Given the description of an element on the screen output the (x, y) to click on. 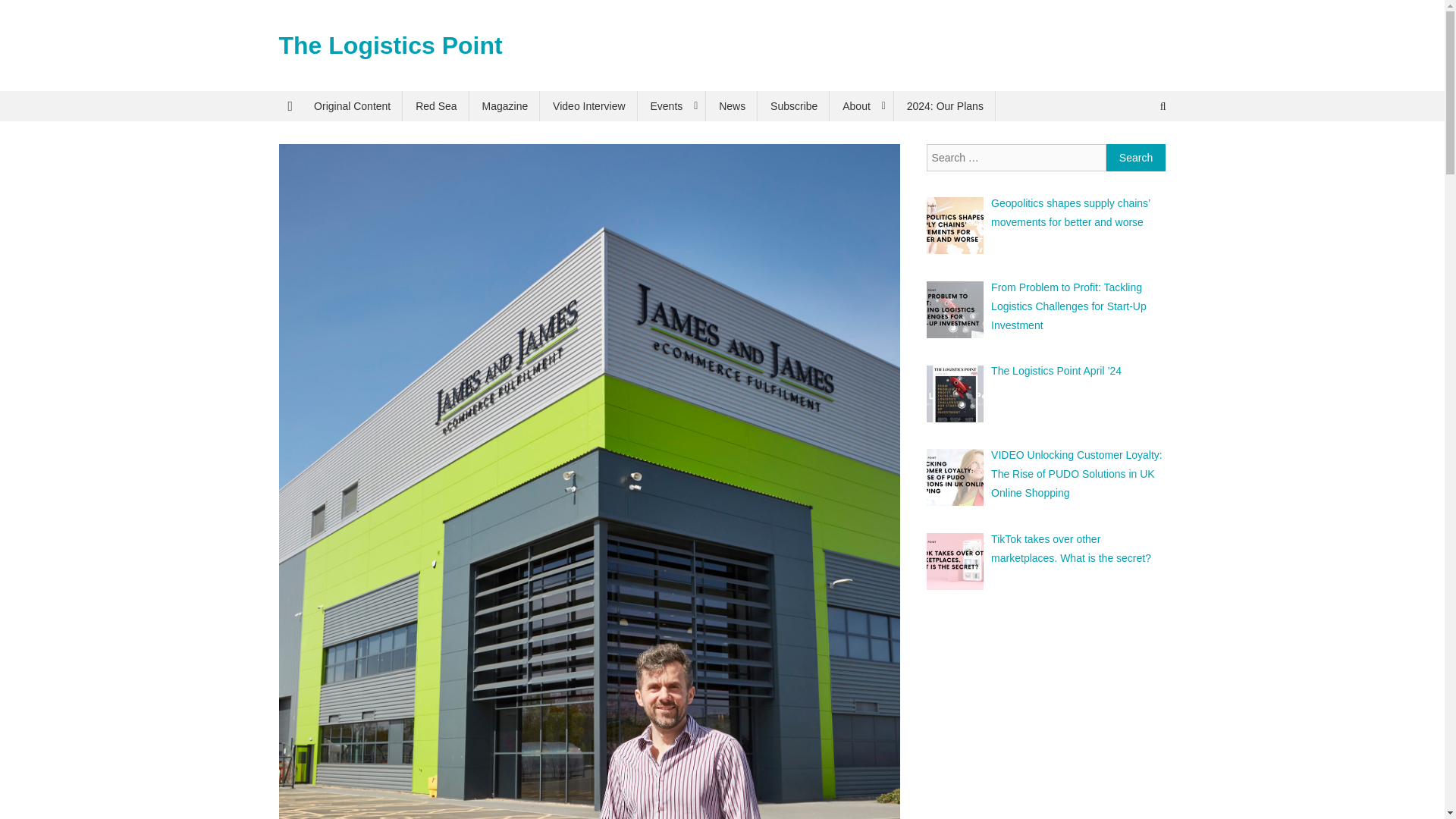
2024: Our Plans (945, 105)
The Logistics Point (390, 44)
Search (1133, 156)
Events (671, 105)
Magazine (505, 105)
Search (1136, 157)
About (861, 105)
News (731, 105)
Original Content (352, 105)
Search (1136, 157)
